Given the description of an element on the screen output the (x, y) to click on. 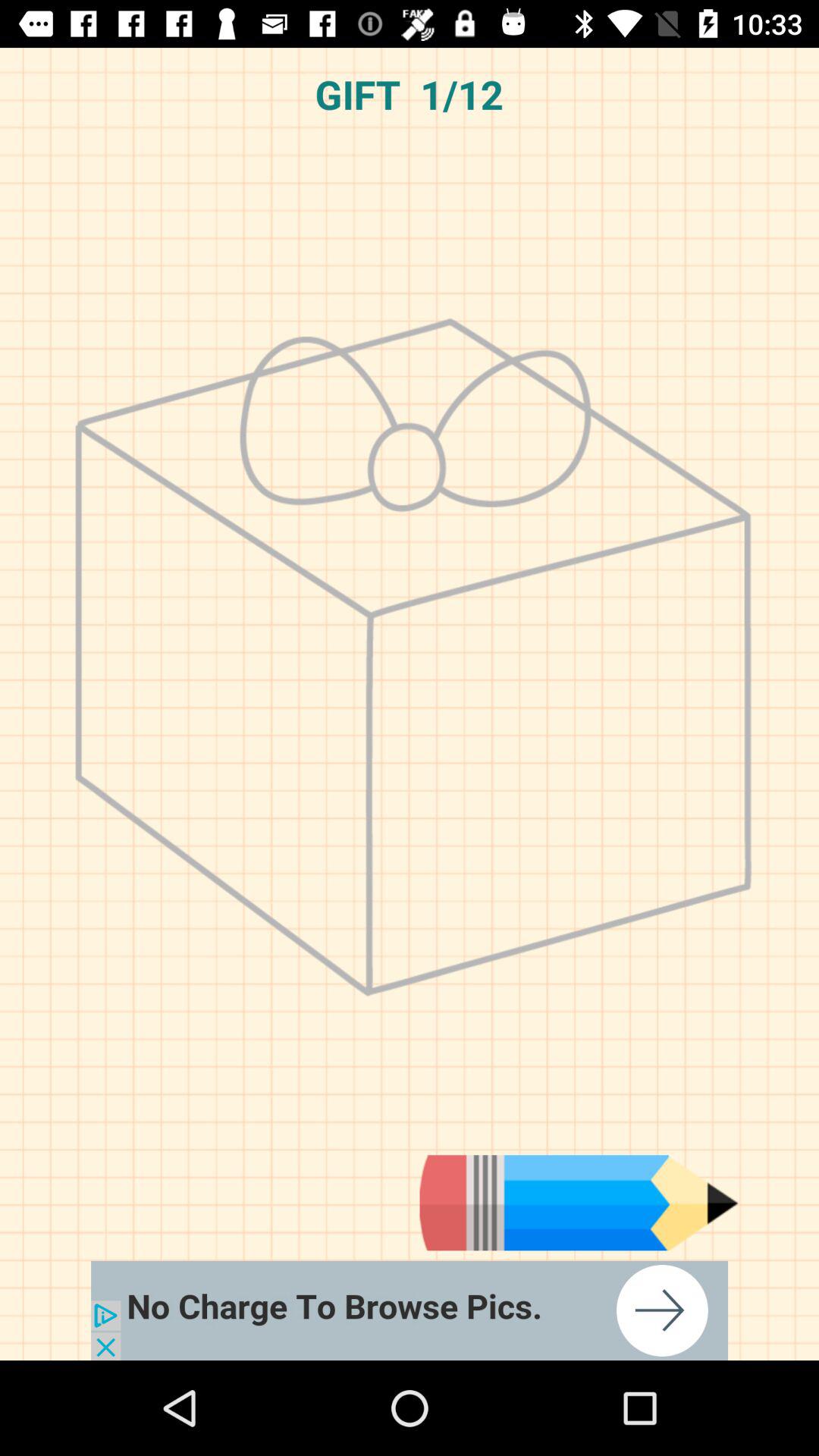
choose pencil type (578, 1202)
